Given the description of an element on the screen output the (x, y) to click on. 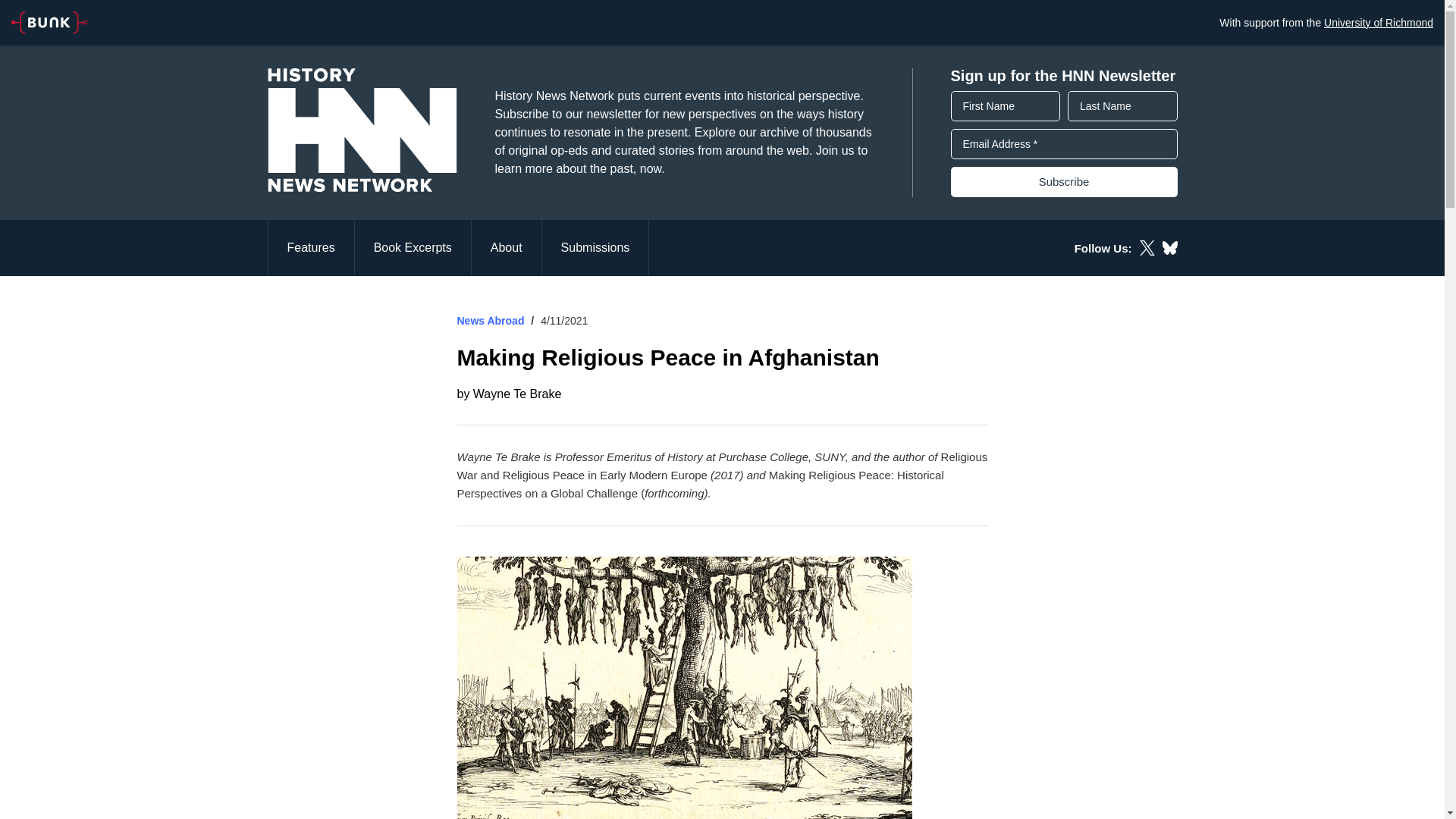
Subscribe (1063, 182)
About (506, 248)
University of Richmond (1377, 22)
Follow HNN on X, formerly Twitter (1146, 247)
Submissions (595, 248)
Follow HNN on Bluesky (1168, 247)
Subscribe (1063, 182)
Book Excerpts (413, 248)
Features (309, 248)
News Abroad (490, 320)
